Given the description of an element on the screen output the (x, y) to click on. 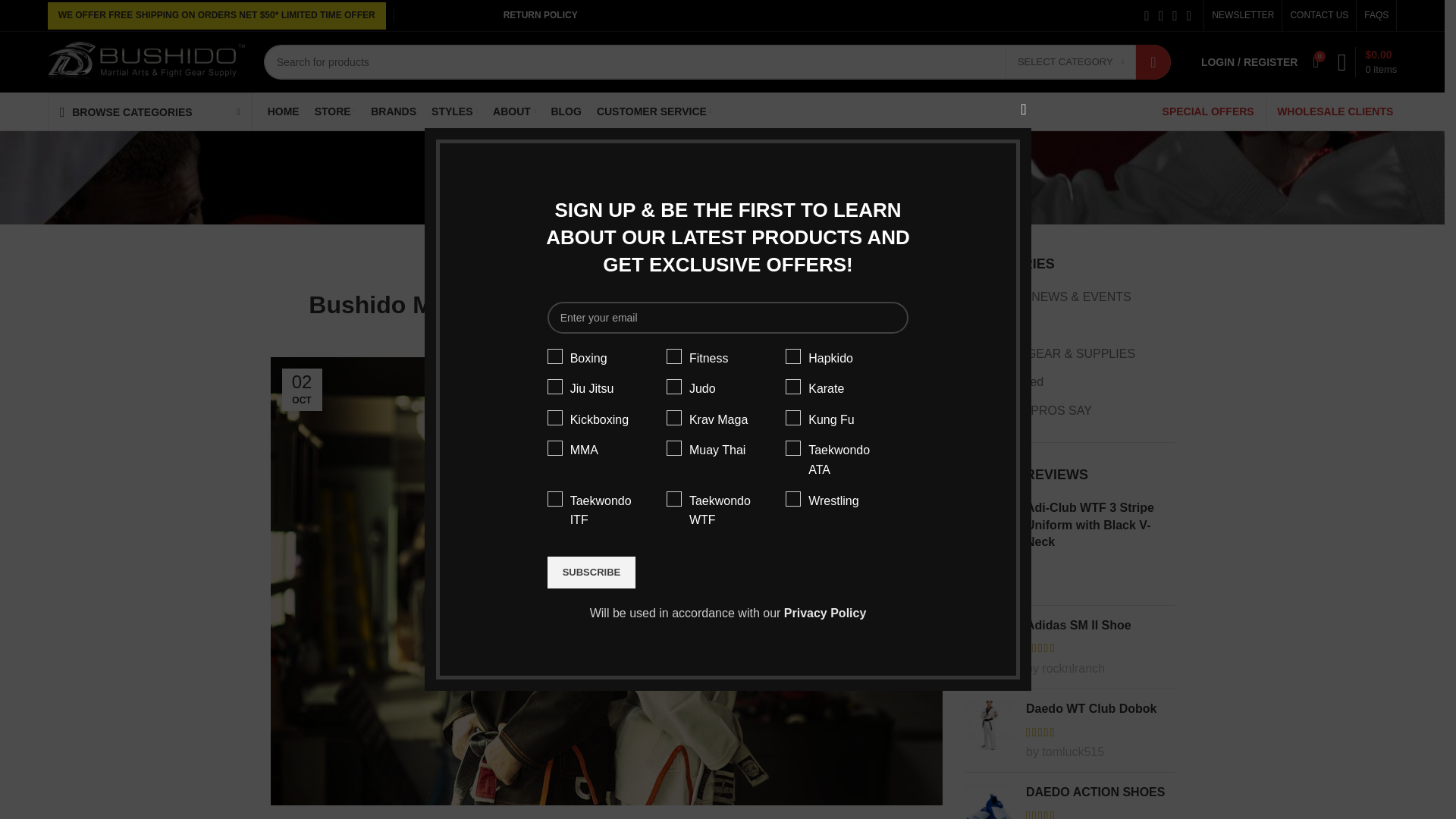
Search for products (716, 62)
RETURN POLICY (540, 14)
Shopping cart (1367, 61)
NEWSLETTER (1242, 15)
SELECT CATEGORY (1070, 61)
Privacy Policy (825, 612)
Subscribe (591, 572)
CONTACT US (1319, 15)
Subscribe (591, 572)
SELECT CATEGORY (1070, 61)
My account (1249, 61)
